Given the description of an element on the screen output the (x, y) to click on. 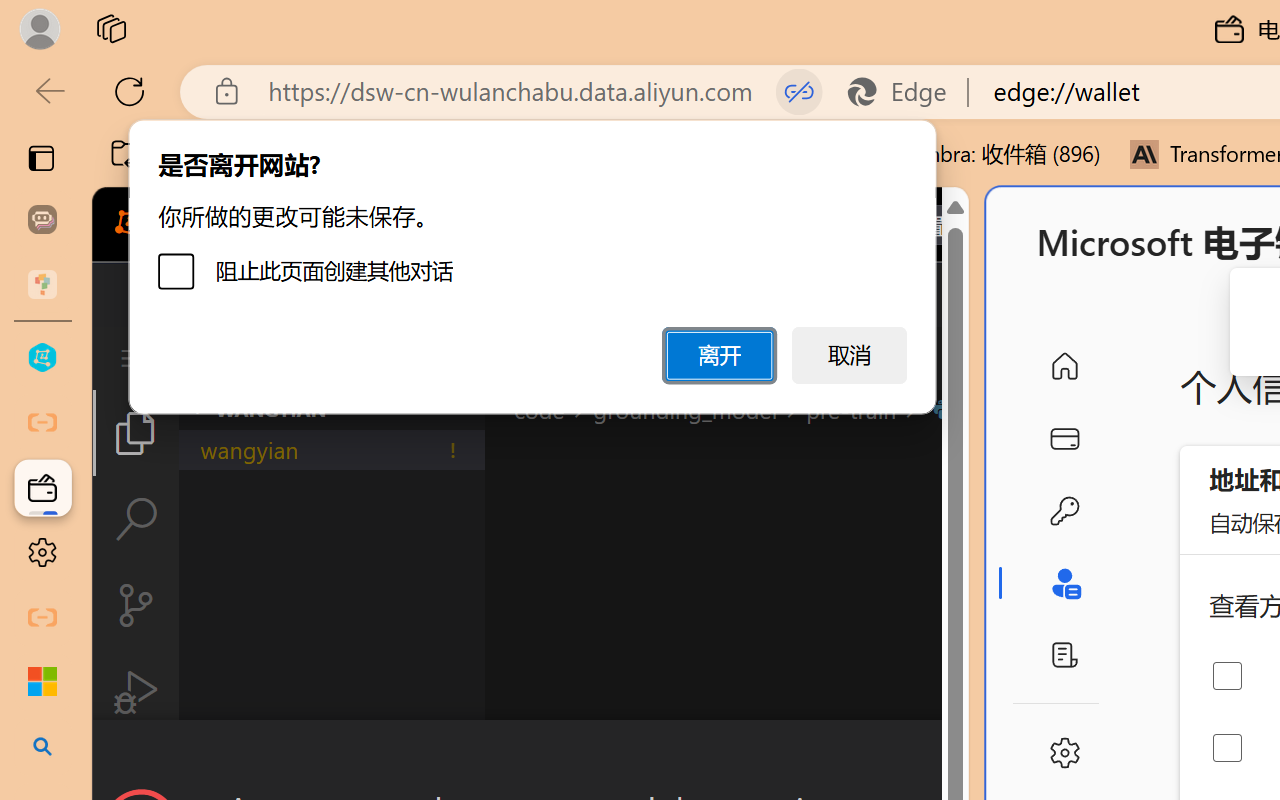
Run and Debug (Ctrl+Shift+D) (135, 692)
